Given the description of an element on the screen output the (x, y) to click on. 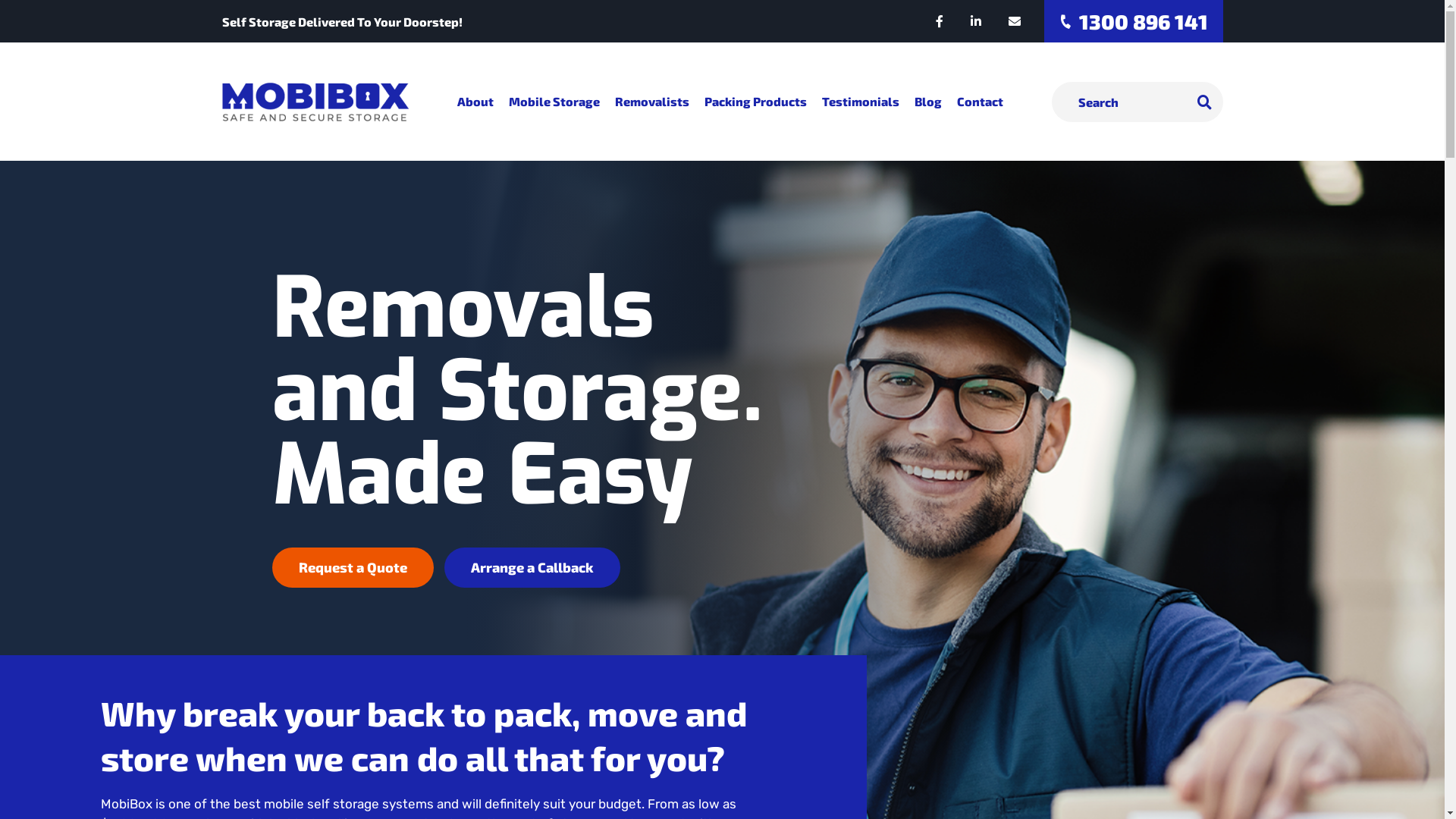
1300 896 141 Element type: text (1132, 21)
Contact Element type: text (980, 101)
Request a Quote Element type: text (352, 567)
Testimonials Element type: text (860, 101)
Removalists Element type: text (651, 101)
Blog Element type: text (927, 101)
Packing Products Element type: text (754, 101)
Mobile Storage Element type: text (553, 101)
Arrange a Callback Element type: text (532, 567)
About Element type: text (474, 101)
